Given the description of an element on the screen output the (x, y) to click on. 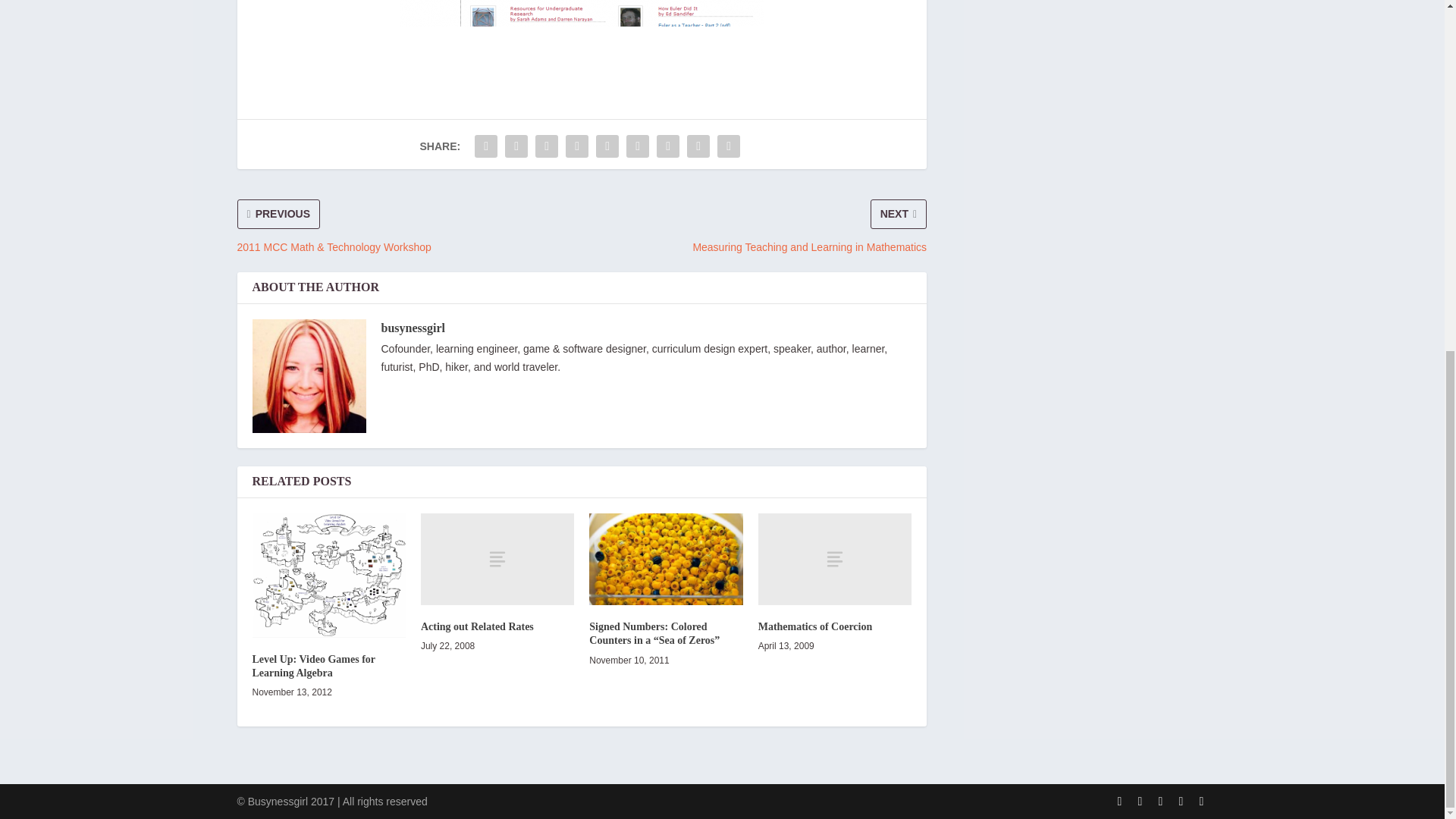
Mathematics of Coercion (834, 559)
View all posts by busynessgirl (412, 327)
Acting out Related Rates (496, 559)
MAA Technology Columnist (580, 13)
Level Up: Video Games for Learning Algebra (327, 575)
